Given the description of an element on the screen output the (x, y) to click on. 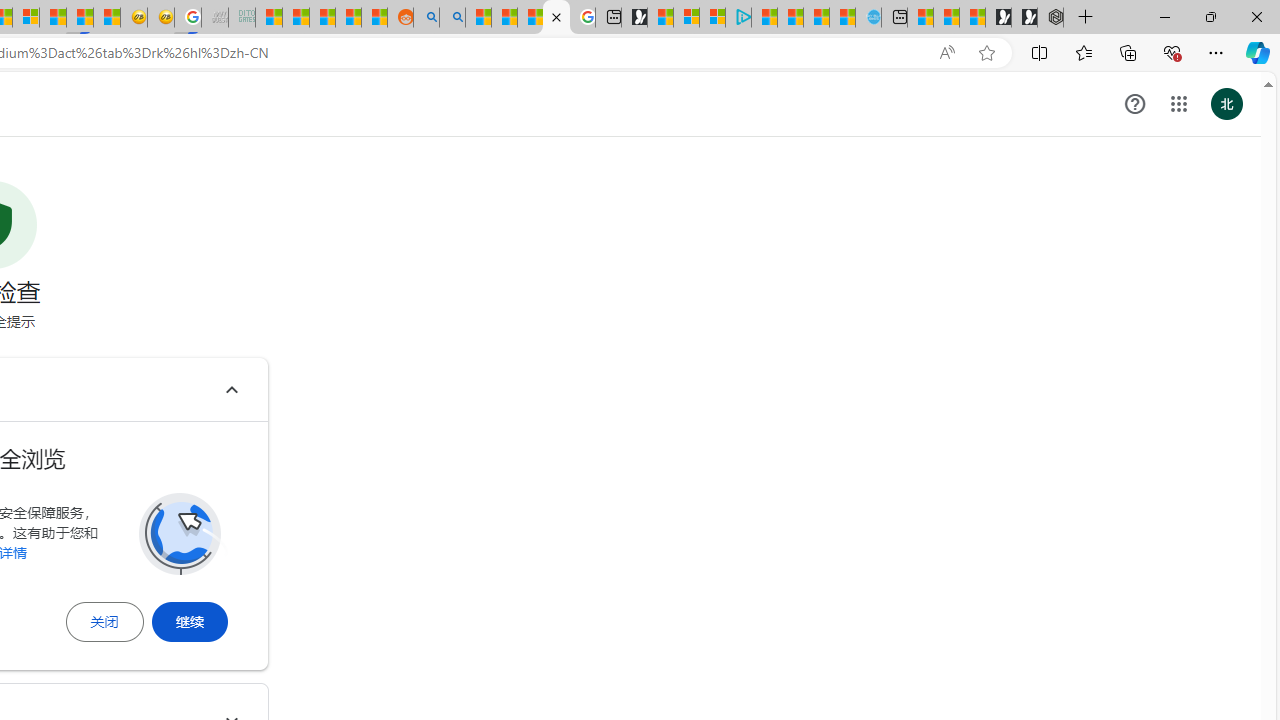
Student Loan Update: Forgiveness Program Ends This Month (347, 17)
